Given the description of an element on the screen output the (x, y) to click on. 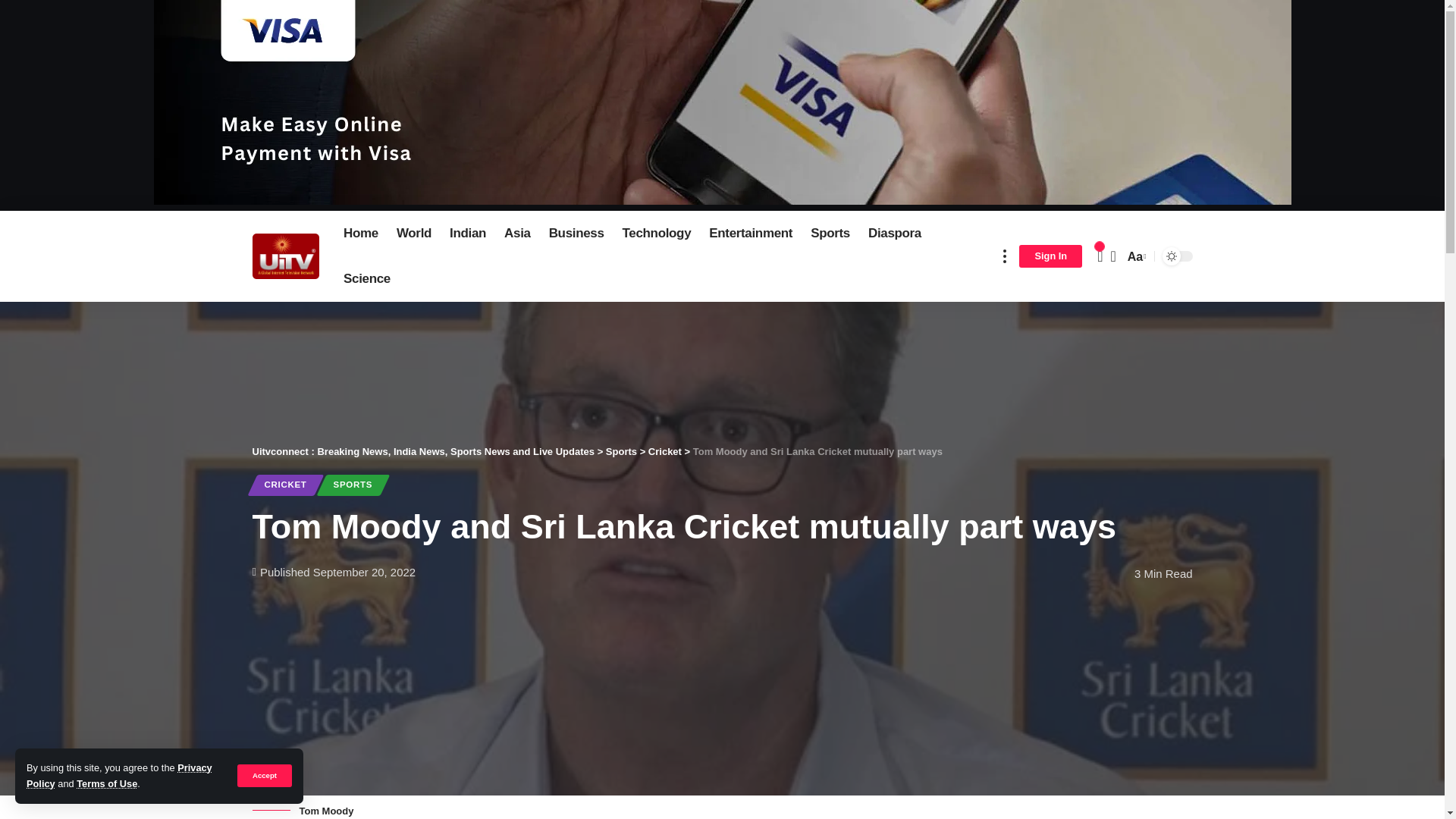
Go to the Sports Category archives. (621, 451)
Terms of Use (106, 783)
Diaspora (894, 233)
Indian (468, 233)
Entertainment (751, 233)
Business (576, 233)
Accept (264, 775)
Asia (517, 233)
Technology (656, 233)
Sports (830, 233)
